Given the description of an element on the screen output the (x, y) to click on. 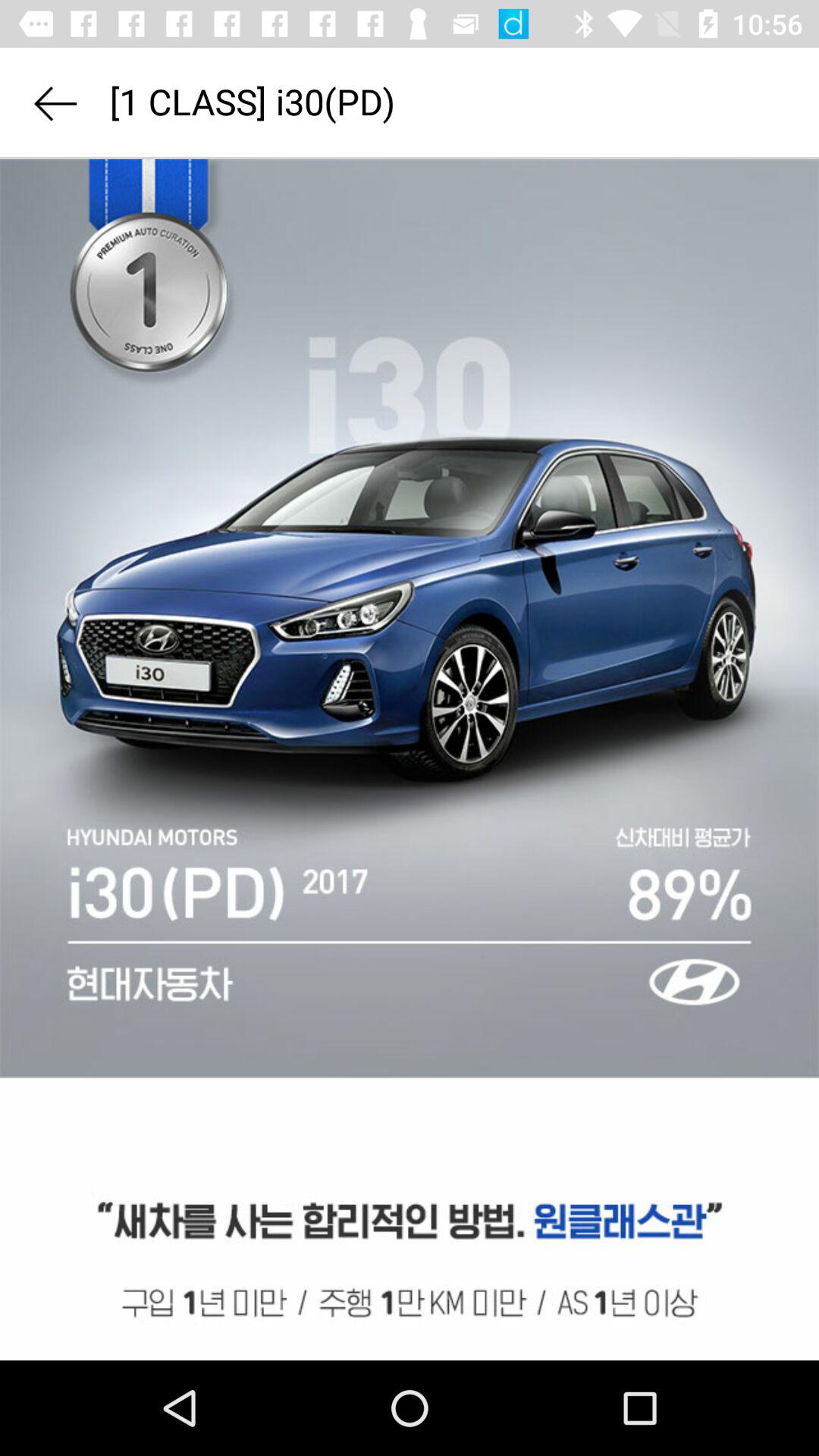
go back (54, 103)
